Given the description of an element on the screen output the (x, y) to click on. 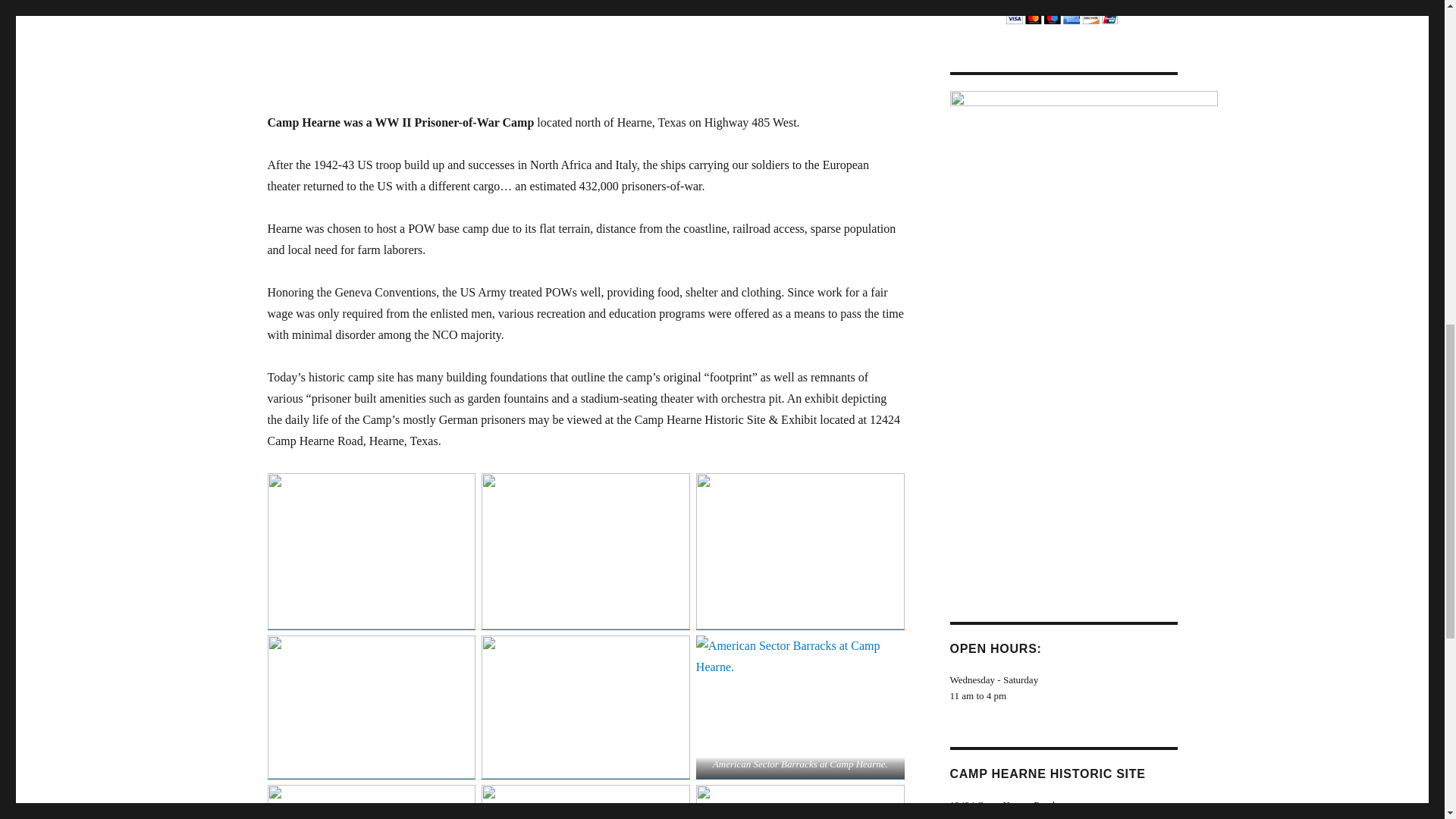
PayPal - The safer, easier way to pay online! (1062, 12)
